Given the description of an element on the screen output the (x, y) to click on. 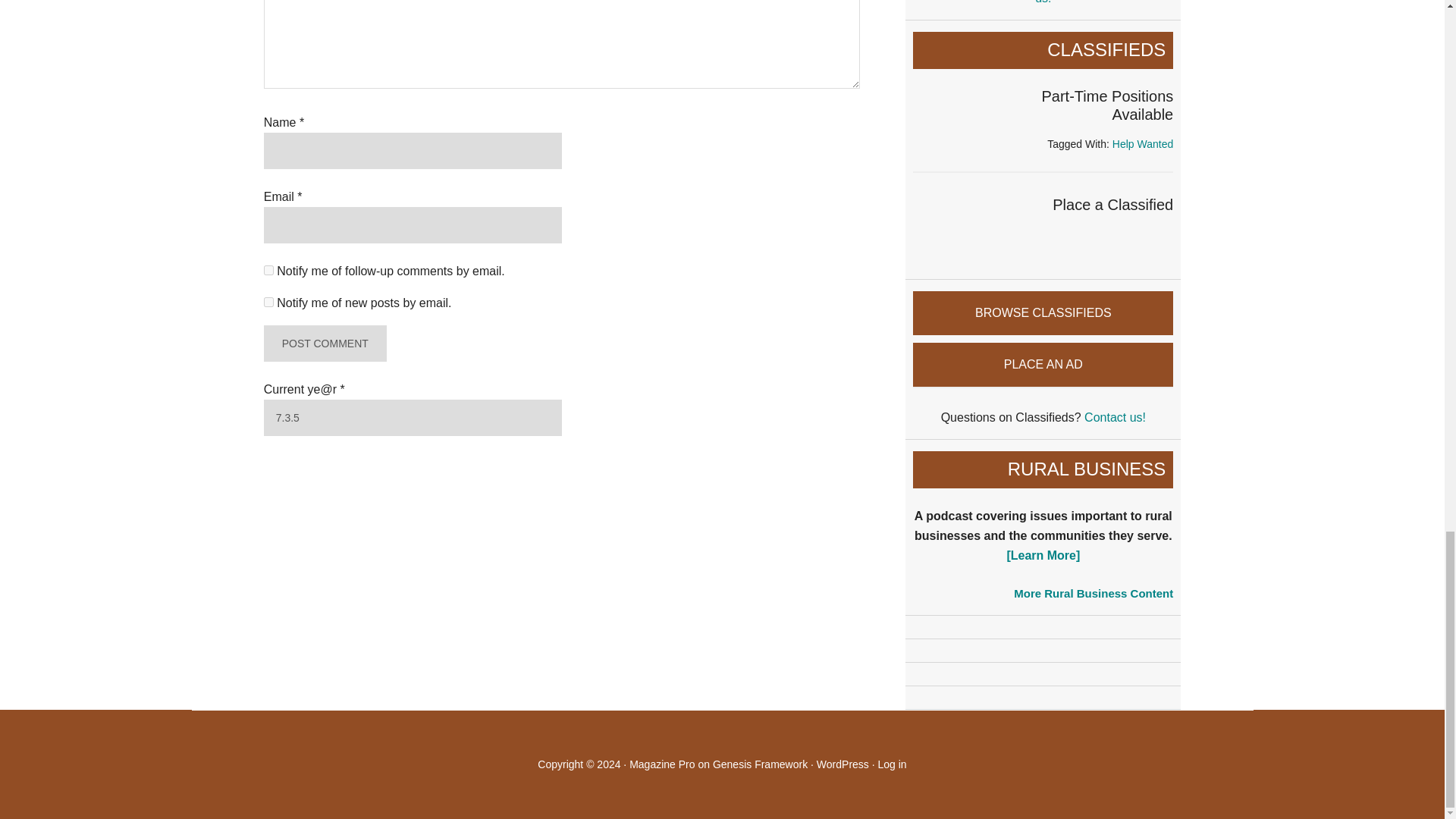
subscribe (268, 302)
7.3.5 (412, 417)
Post Comment (325, 343)
subscribe (268, 270)
Post Comment (325, 343)
